Given the description of an element on the screen output the (x, y) to click on. 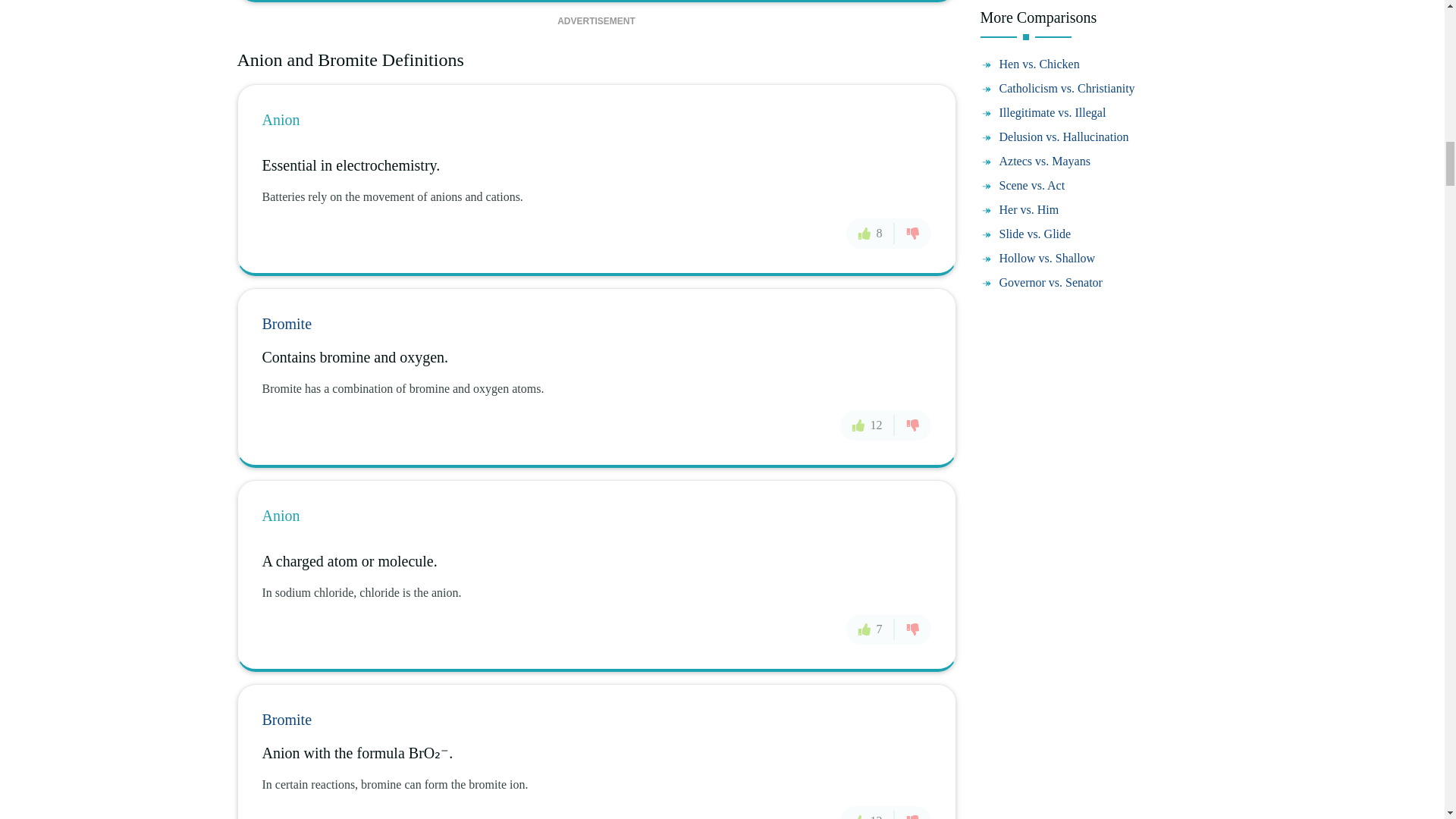
12 (867, 424)
12 (867, 812)
8 (870, 233)
7 (870, 629)
